Given the description of an element on the screen output the (x, y) to click on. 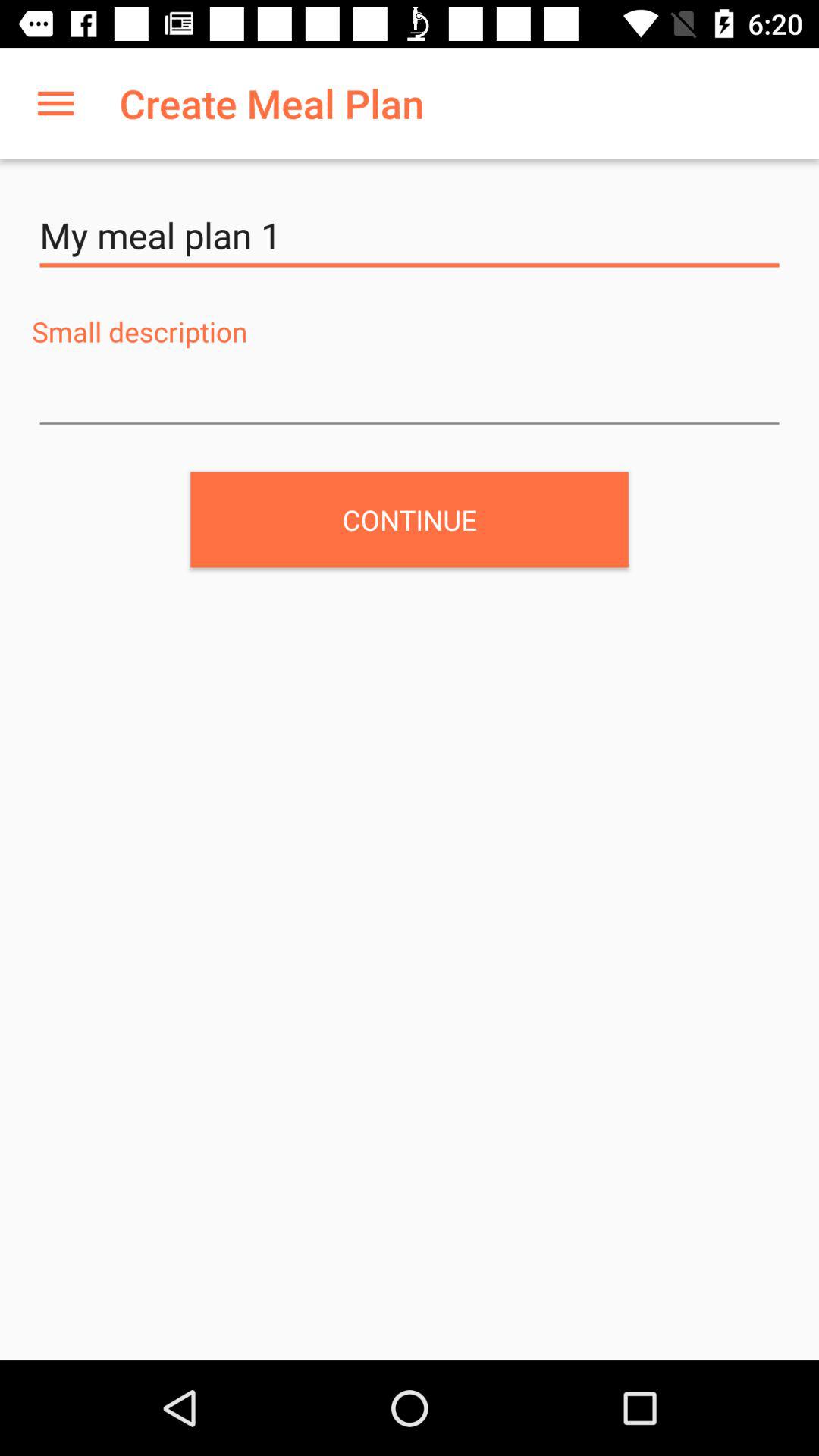
fill description of the meal plan (409, 395)
